Given the description of an element on the screen output the (x, y) to click on. 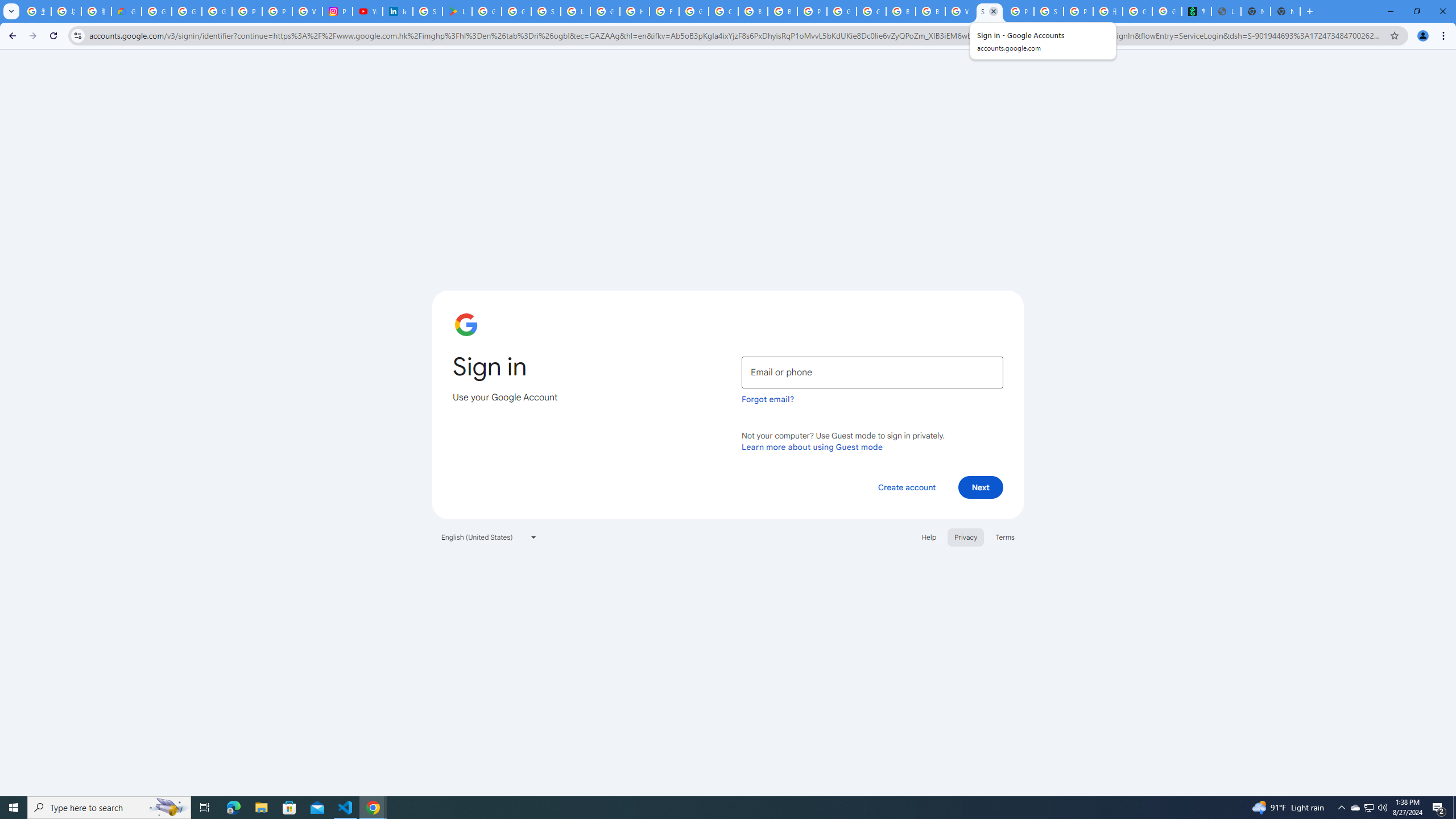
Google Cloud Platform (871, 11)
Sign in - Google Accounts (989, 11)
